Given the description of an element on the screen output the (x, y) to click on. 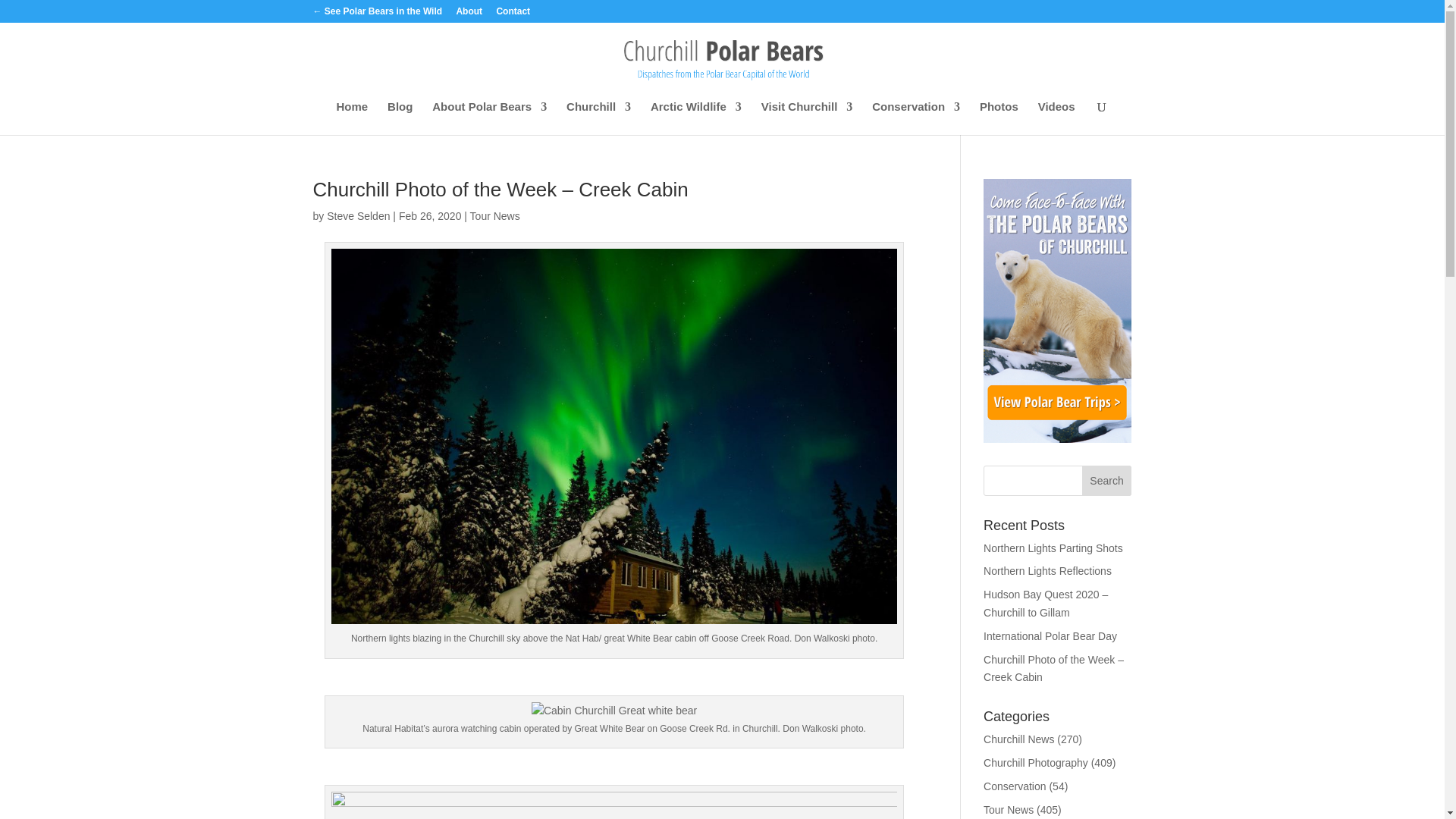
Posts by Steve Selden (358, 215)
Search (1106, 481)
Home (352, 117)
Arctic Wildlife (695, 117)
About (468, 14)
Conservation (915, 117)
Visit Churchill (807, 117)
Contact (512, 14)
Churchill (598, 117)
About Polar Bears (489, 117)
